Given the description of an element on the screen output the (x, y) to click on. 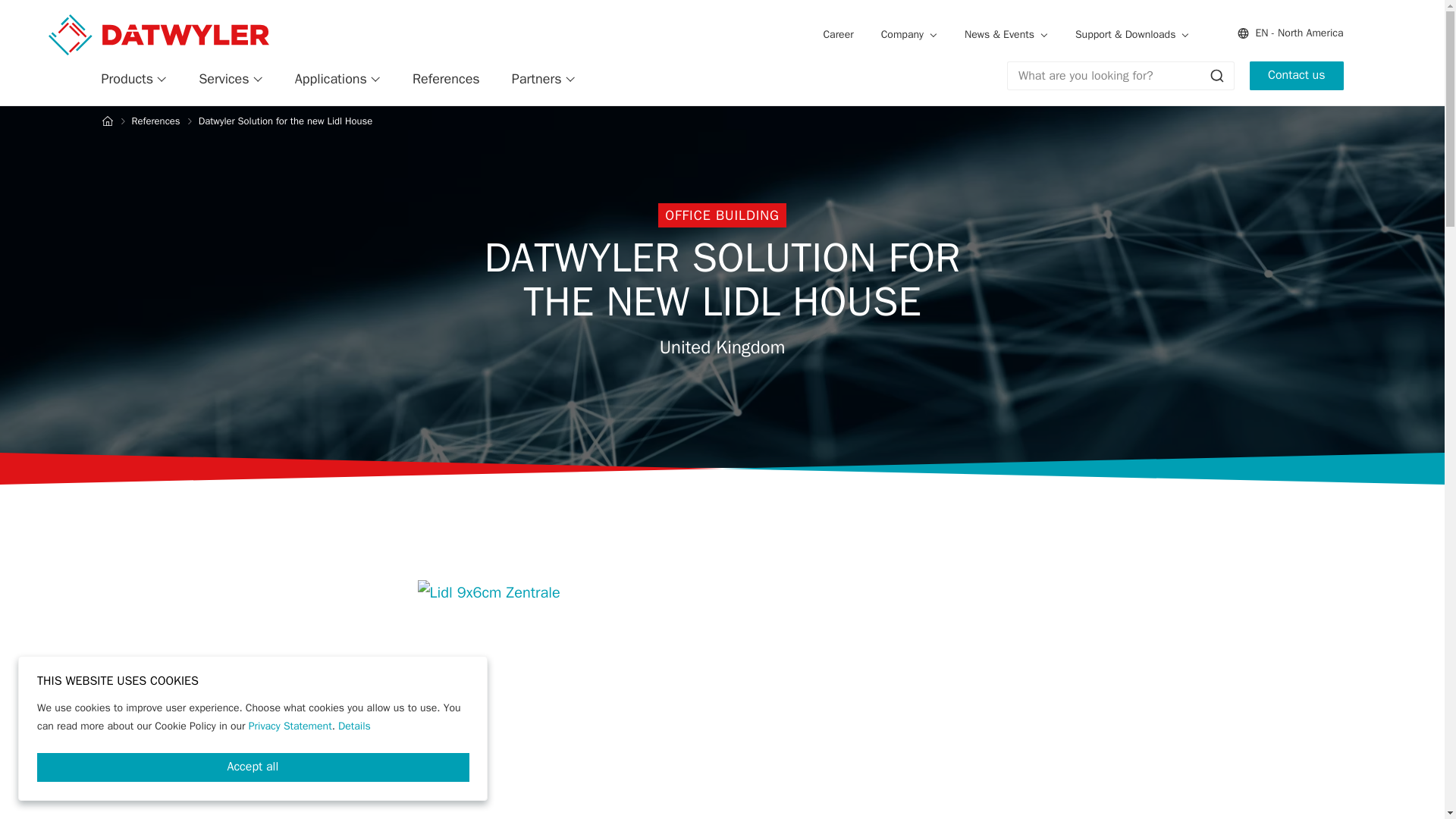
Services (230, 78)
Products (134, 78)
Submit (1215, 75)
Contact us (1295, 75)
Applications (337, 78)
